Given the description of an element on the screen output the (x, y) to click on. 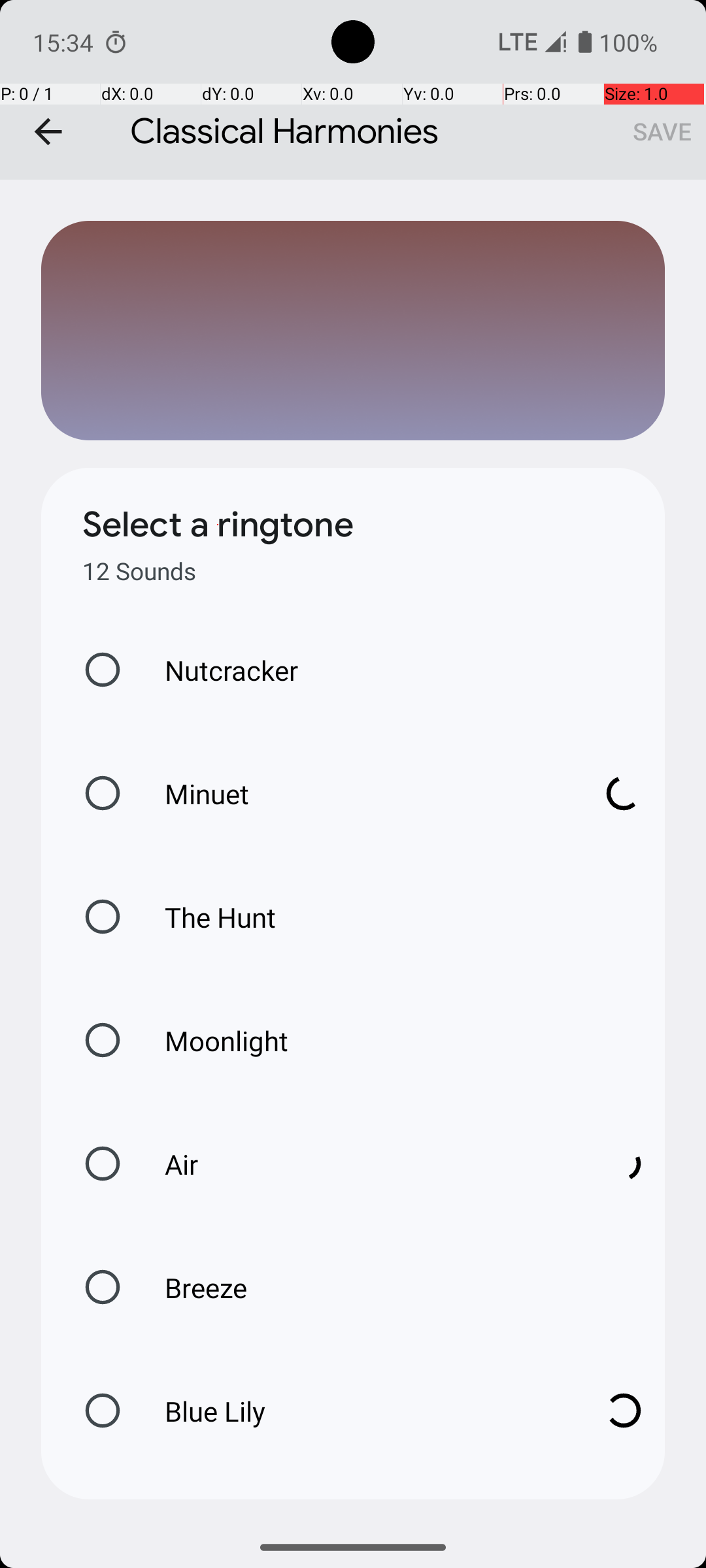
Classical Harmonies Element type: android.widget.FrameLayout (353, 89)
Select a ringtone Element type: android.widget.TextView (217, 524)
12 Sounds Element type: android.widget.TextView (139, 570)
Nutcracker Element type: android.widget.TextView (217, 669)
Minuet Element type: android.widget.TextView (359, 793)
Download in progress Element type: android.widget.ImageView (623, 792)
The Hunt Element type: android.widget.TextView (206, 916)
Moonlight Element type: android.widget.TextView (212, 1040)
Air Element type: android.widget.TextView (359, 1163)
Breeze Element type: android.widget.TextView (192, 1287)
Blue Lily Element type: android.widget.TextView (359, 1410)
